Given the description of an element on the screen output the (x, y) to click on. 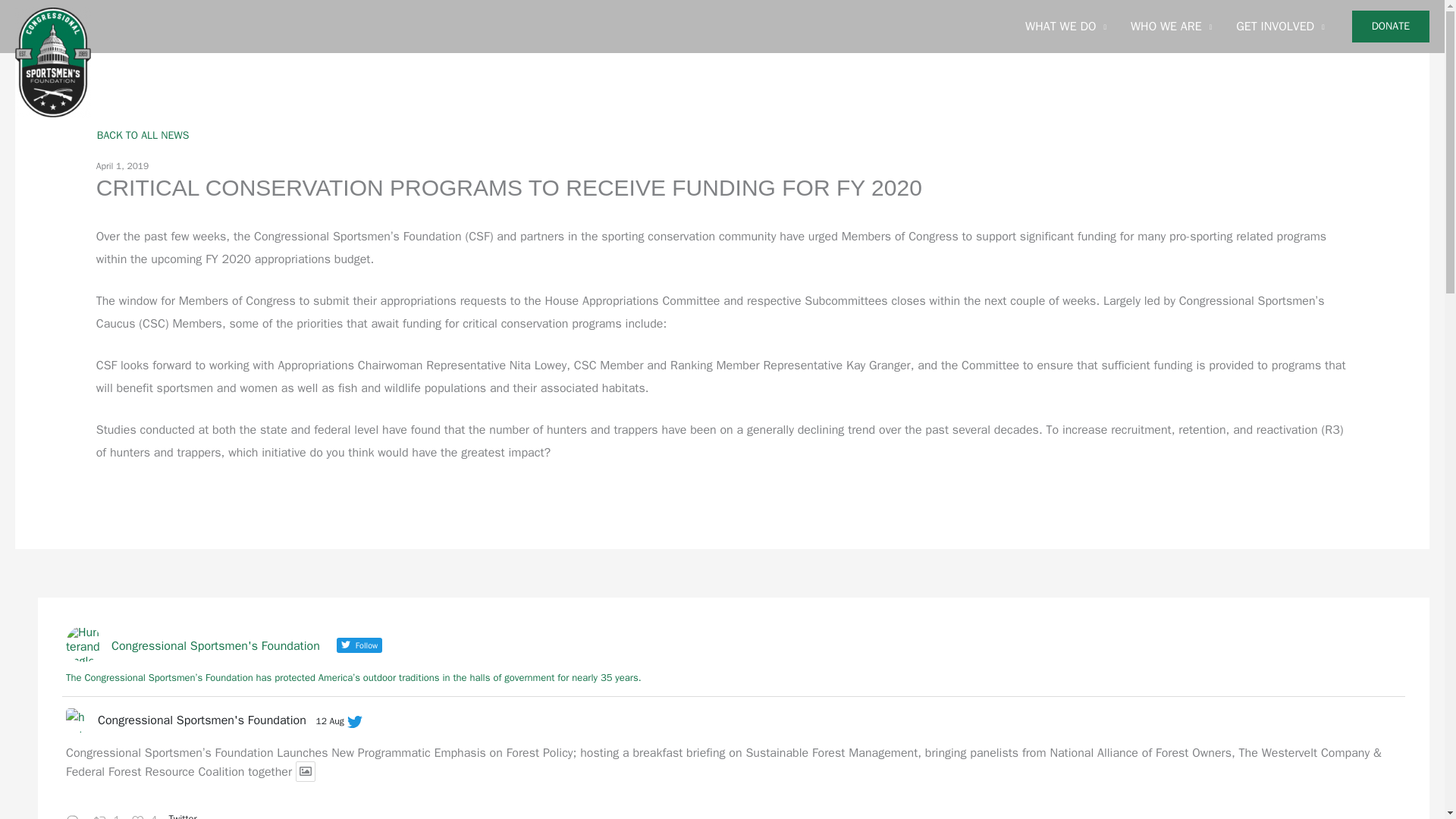
GET INVOLVED (1280, 26)
WHO WE ARE (1171, 26)
WHAT WE DO (1065, 26)
BACK TO ALL NEWS (143, 134)
DONATE (1390, 26)
